Given the description of an element on the screen output the (x, y) to click on. 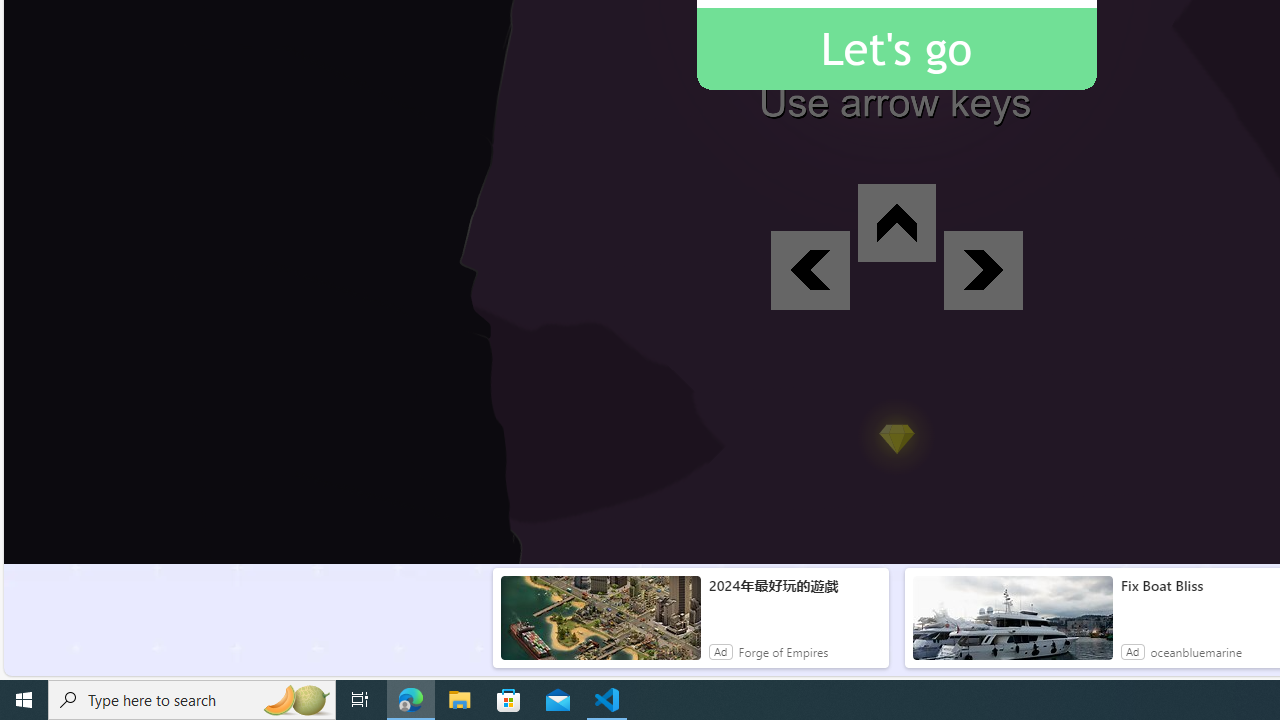
Forge of Empires (783, 651)
oceanbluemarine (1195, 651)
anim-content (1012, 626)
